Given the description of an element on the screen output the (x, y) to click on. 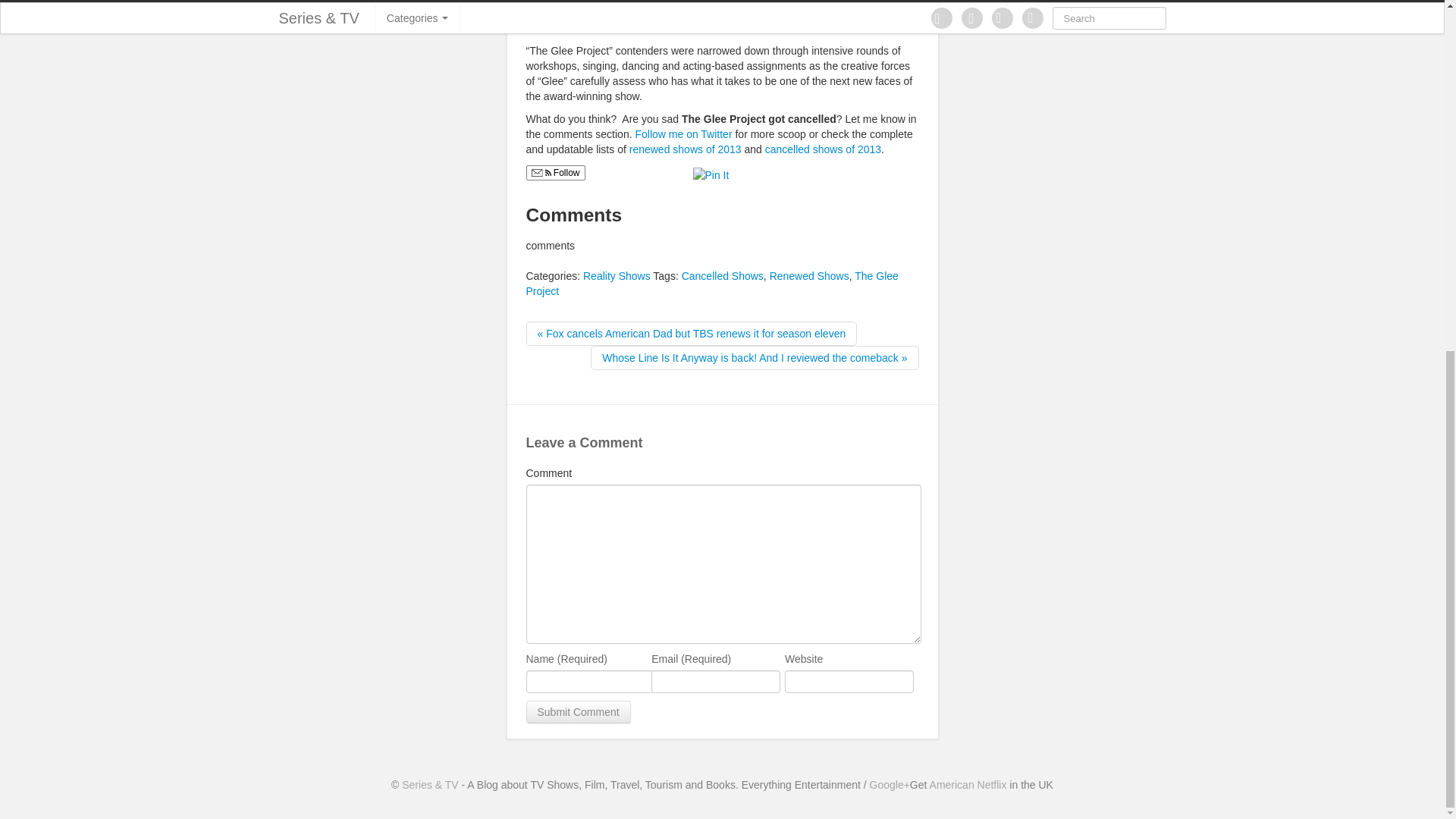
The Glee Project (711, 283)
Complete List of Renewed Shows on 2013 (684, 149)
Reality Shows (616, 275)
Email, RSS (540, 173)
Share on Tumblr (791, 173)
Submit Comment (577, 712)
cancelled shows of 2013 (822, 149)
Cancelled Shows (721, 275)
Share on Tumblr (791, 173)
Renewed Shows (809, 275)
Home (429, 784)
Follow me on Twitter  (684, 133)
renewed shows of 2013 (684, 149)
Follow (555, 172)
